Given the description of an element on the screen output the (x, y) to click on. 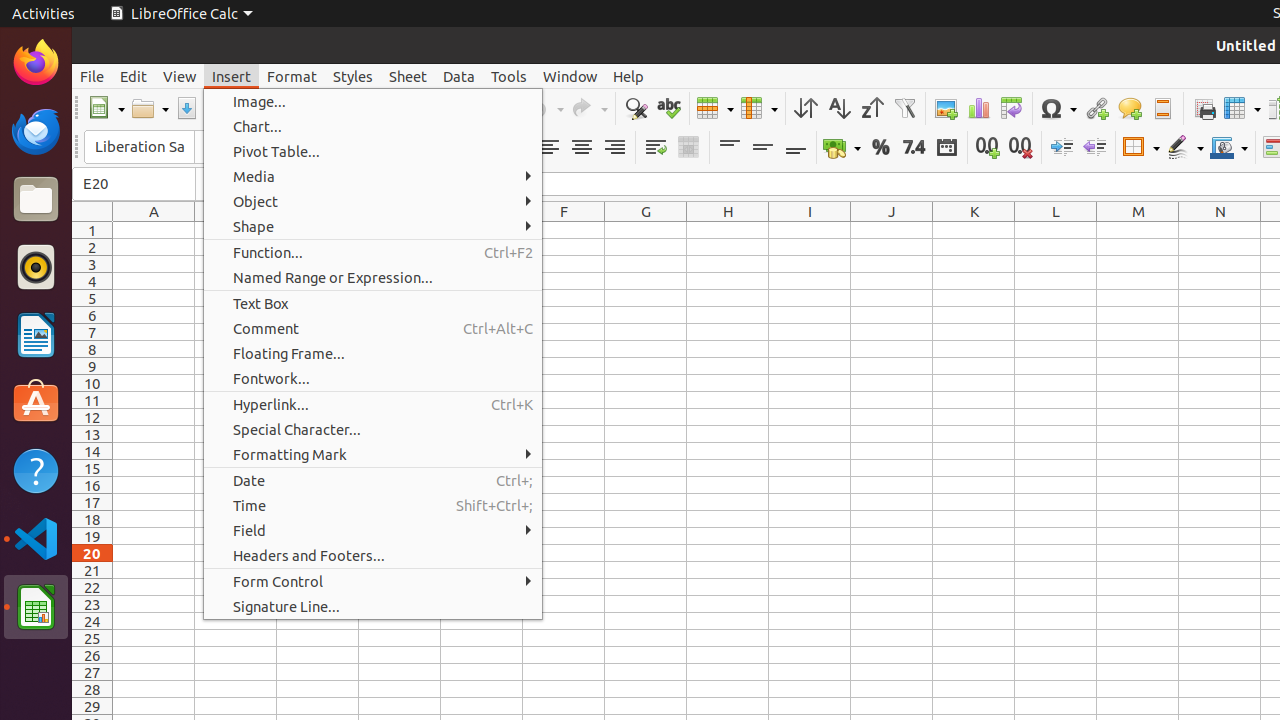
A1 Element type: table-cell (154, 230)
Field Element type: menu (373, 530)
Spelling Element type: push-button (668, 108)
Chart... Element type: menu-item (373, 126)
Align Top Element type: push-button (729, 147)
